Given the description of an element on the screen output the (x, y) to click on. 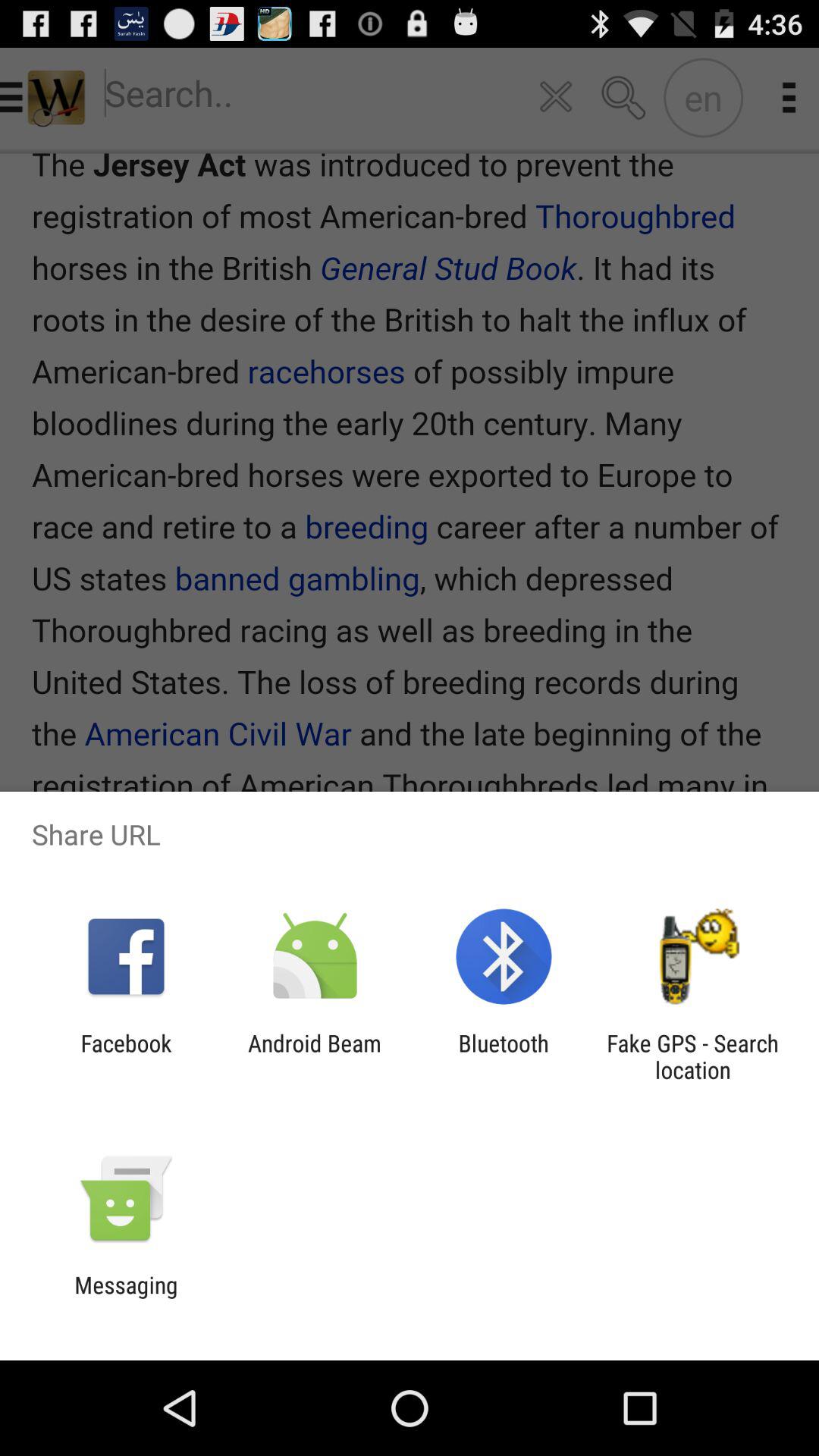
scroll until fake gps search (692, 1056)
